Given the description of an element on the screen output the (x, y) to click on. 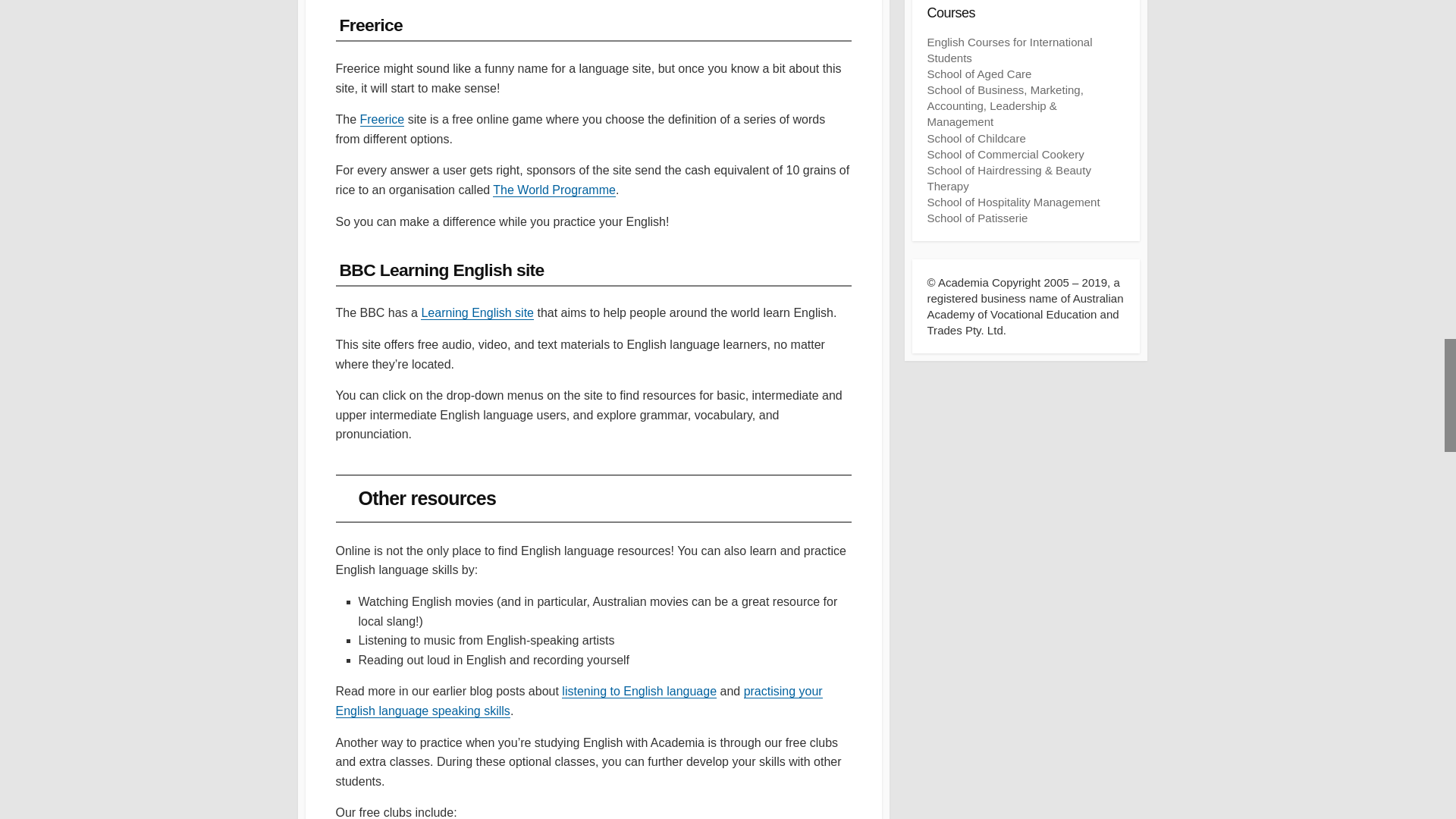
School of Childcare (975, 137)
listening to English language (639, 690)
Freerice (381, 119)
The World Programme (554, 189)
practising your English language speaking skills (578, 700)
Learning English site (477, 312)
